Given the description of an element on the screen output the (x, y) to click on. 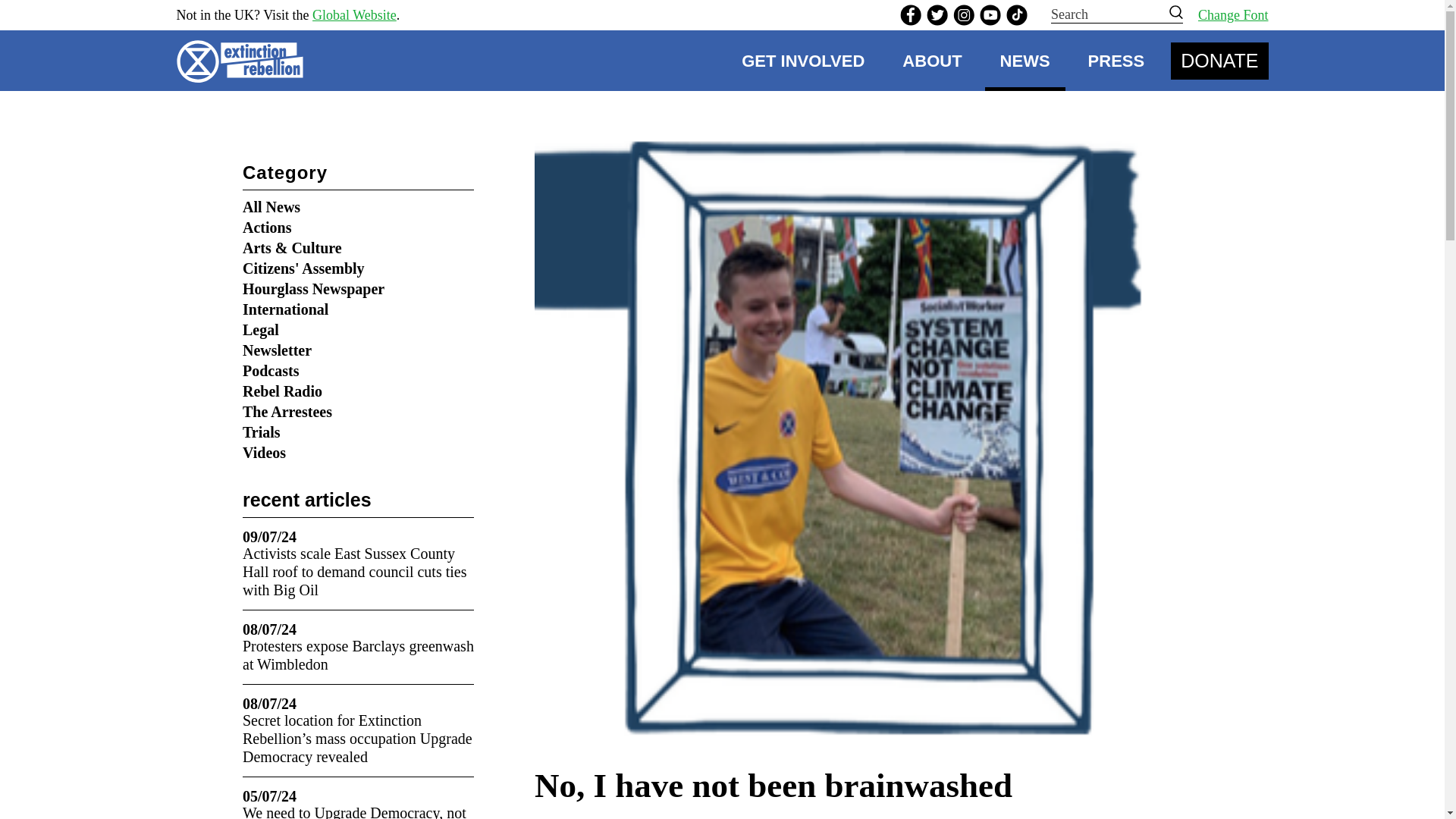
Extinction Rebellion logo (244, 61)
Global Website (354, 14)
